Given the description of an element on the screen output the (x, y) to click on. 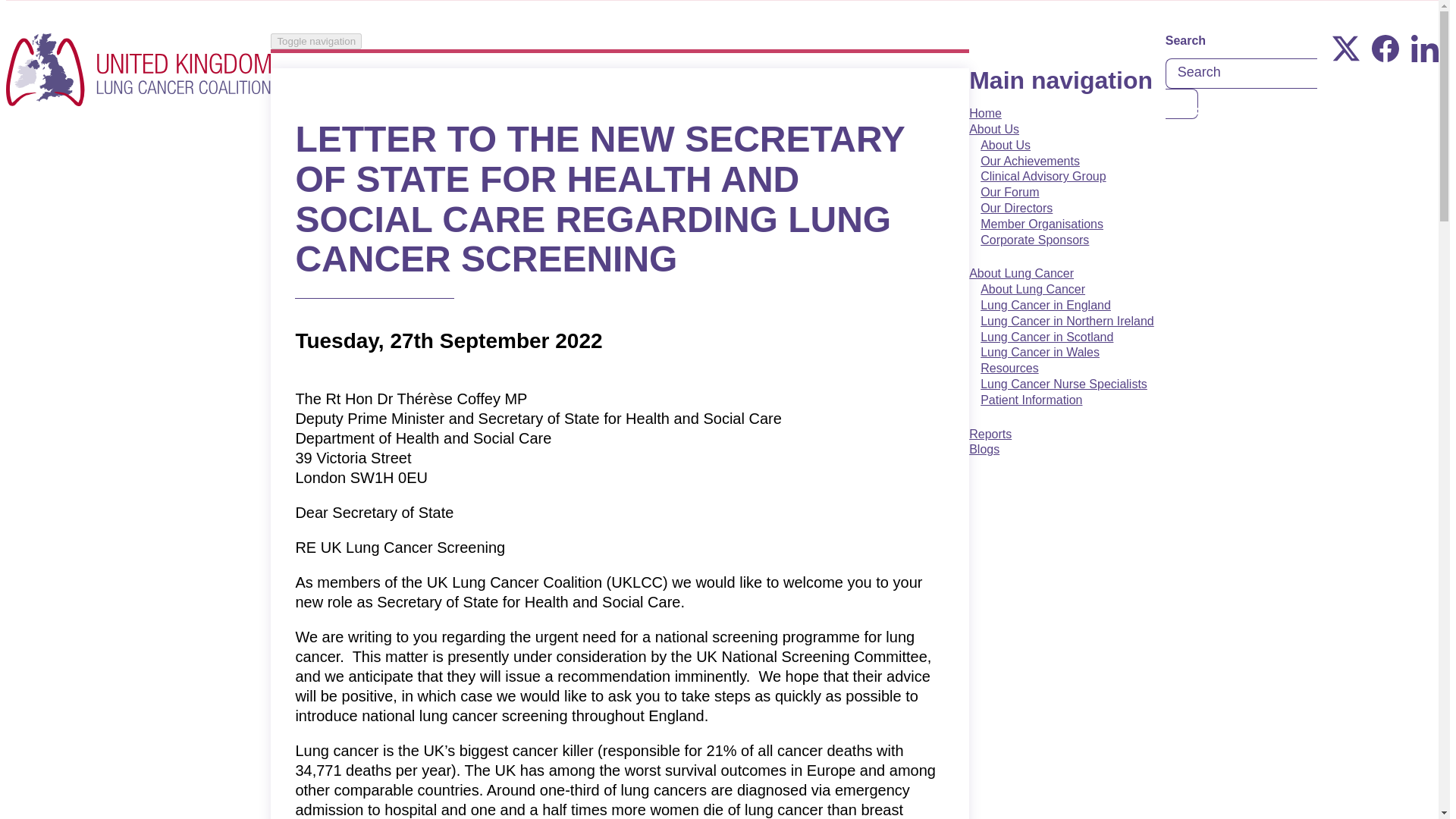
Lung Cancer Nurse Specialists (1063, 384)
Search (1182, 103)
Home (137, 71)
Reports (990, 441)
Corporate Sponsors (1034, 239)
Resources (1009, 367)
Member Organisations (1042, 223)
Blogs (983, 456)
Patient Information (1031, 399)
Lung Cancer in Northern Ireland (1067, 321)
